Given the description of an element on the screen output the (x, y) to click on. 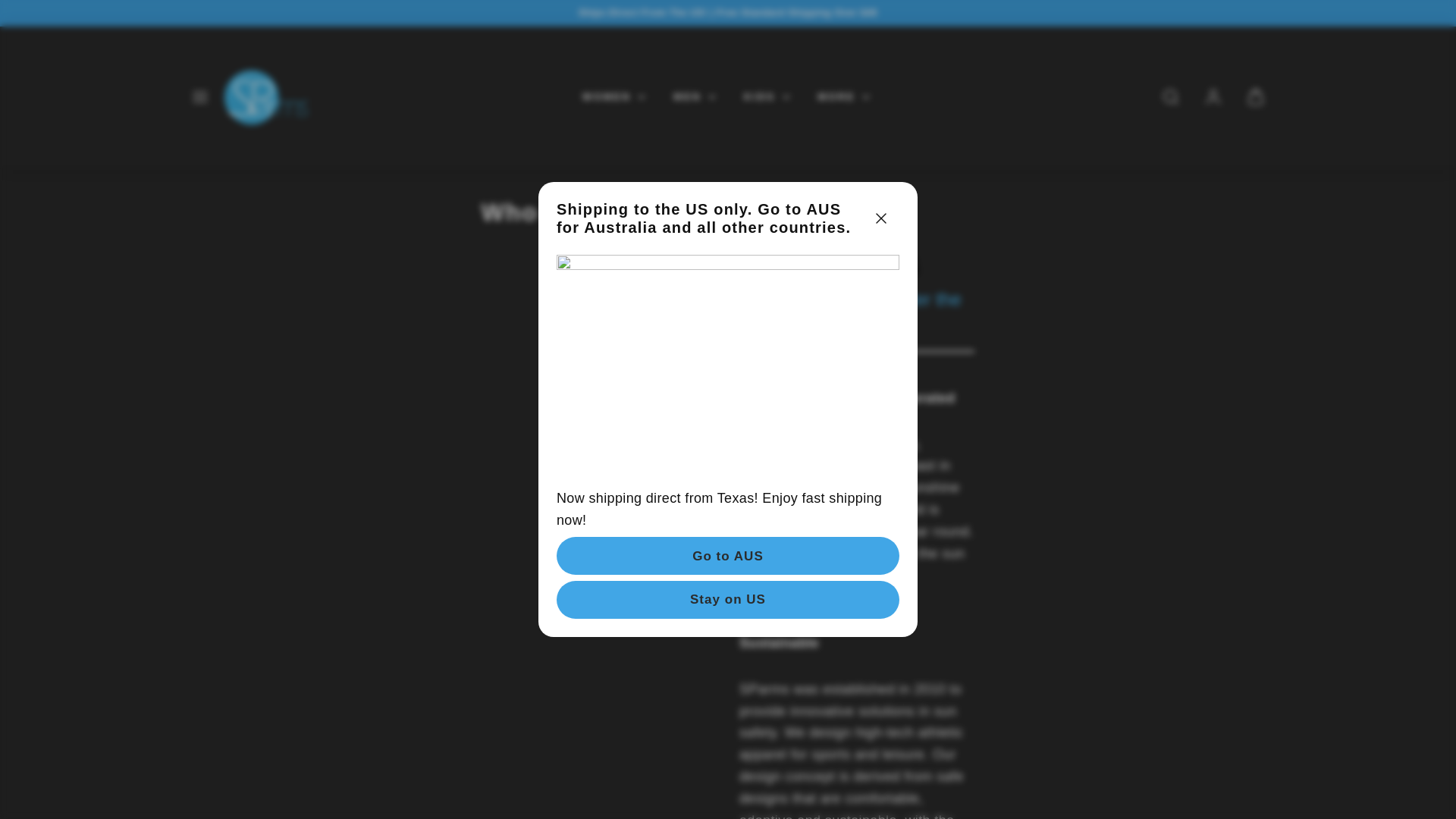
WOMEN (615, 97)
MENU (200, 96)
ACCOUNT (1213, 96)
MORE (845, 97)
SEARCH (1171, 96)
KIDS (768, 97)
MEN (696, 97)
